Given the description of an element on the screen output the (x, y) to click on. 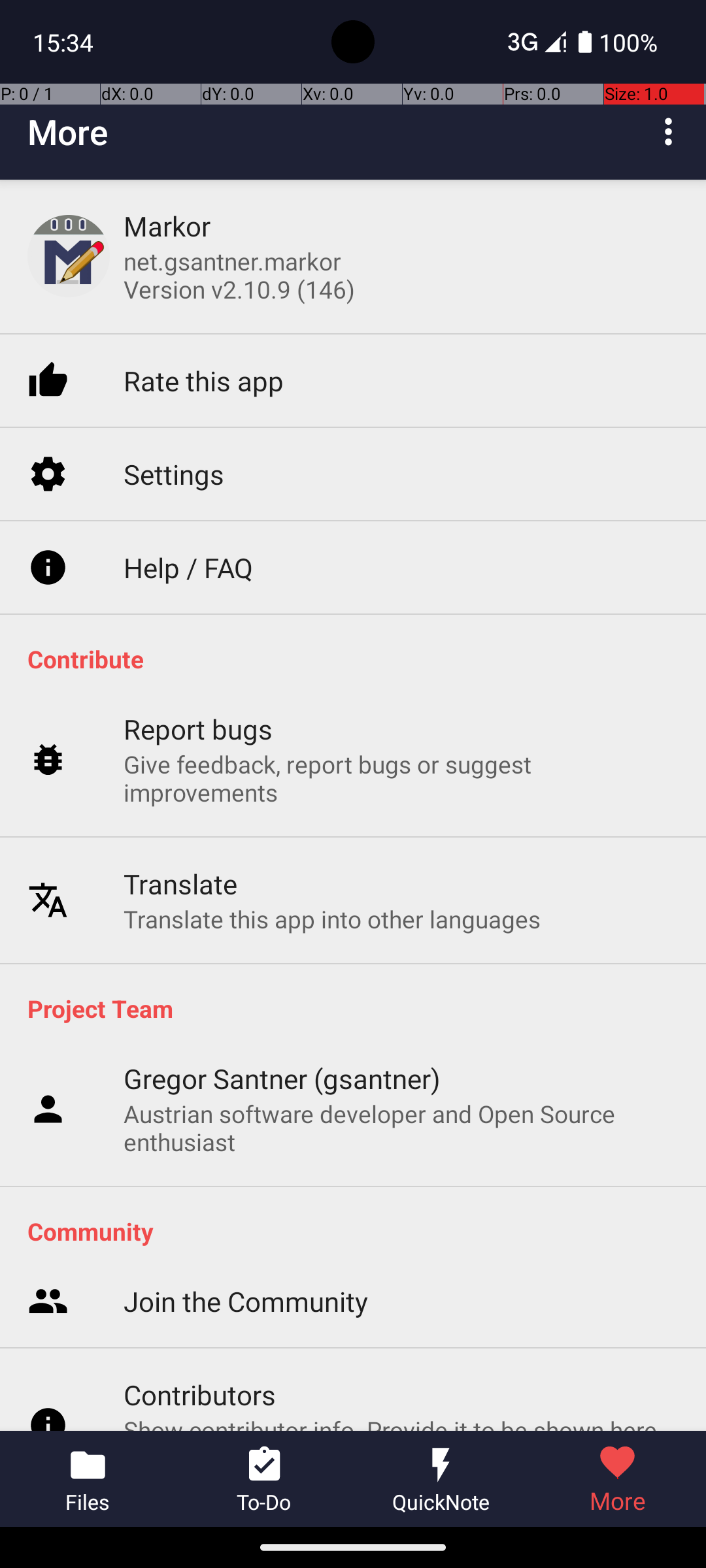
Contribute Element type: android.widget.TextView (359, 658)
Project Team Element type: android.widget.TextView (359, 1008)
Community Element type: android.widget.TextView (359, 1230)
net.gsantner.markor
Version v2.10.9 (146) Element type: android.widget.TextView (239, 274)
Rate this app Element type: android.widget.TextView (203, 380)
Help / FAQ Element type: android.widget.TextView (188, 567)
Report bugs Element type: android.widget.TextView (198, 728)
Give feedback, report bugs or suggest improvements Element type: android.widget.TextView (400, 777)
Translate Element type: android.widget.TextView (180, 883)
Translate this app into other languages Element type: android.widget.TextView (331, 918)
Gregor Santner (gsantner) Element type: android.widget.TextView (281, 1077)
Austrian software developer and Open Source enthusiast Element type: android.widget.TextView (400, 1127)
Join the Community Element type: android.widget.TextView (245, 1300)
Contributors Element type: android.widget.TextView (199, 1394)
Show contributor info. Provide it to be shown here on an opt-in basis after contributing Element type: android.widget.TextView (400, 1421)
